Given the description of an element on the screen output the (x, y) to click on. 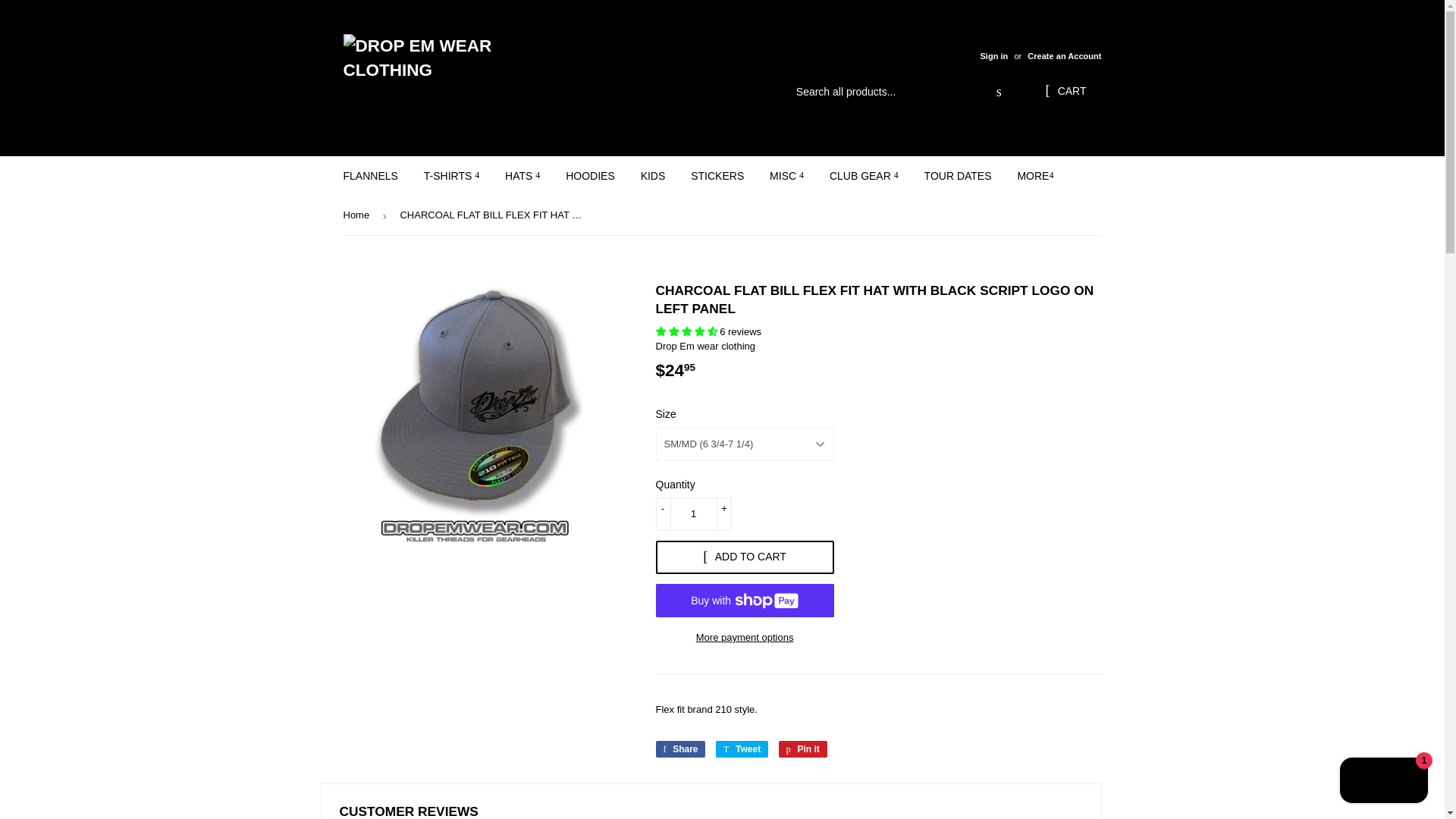
Create an Account (1063, 55)
Tweet on Twitter (742, 749)
Search (998, 92)
1 (692, 513)
Share on Facebook (679, 749)
CART (1064, 91)
Sign in (993, 55)
Back to the frontpage (358, 215)
Pin on Pinterest (802, 749)
